Given the description of an element on the screen output the (x, y) to click on. 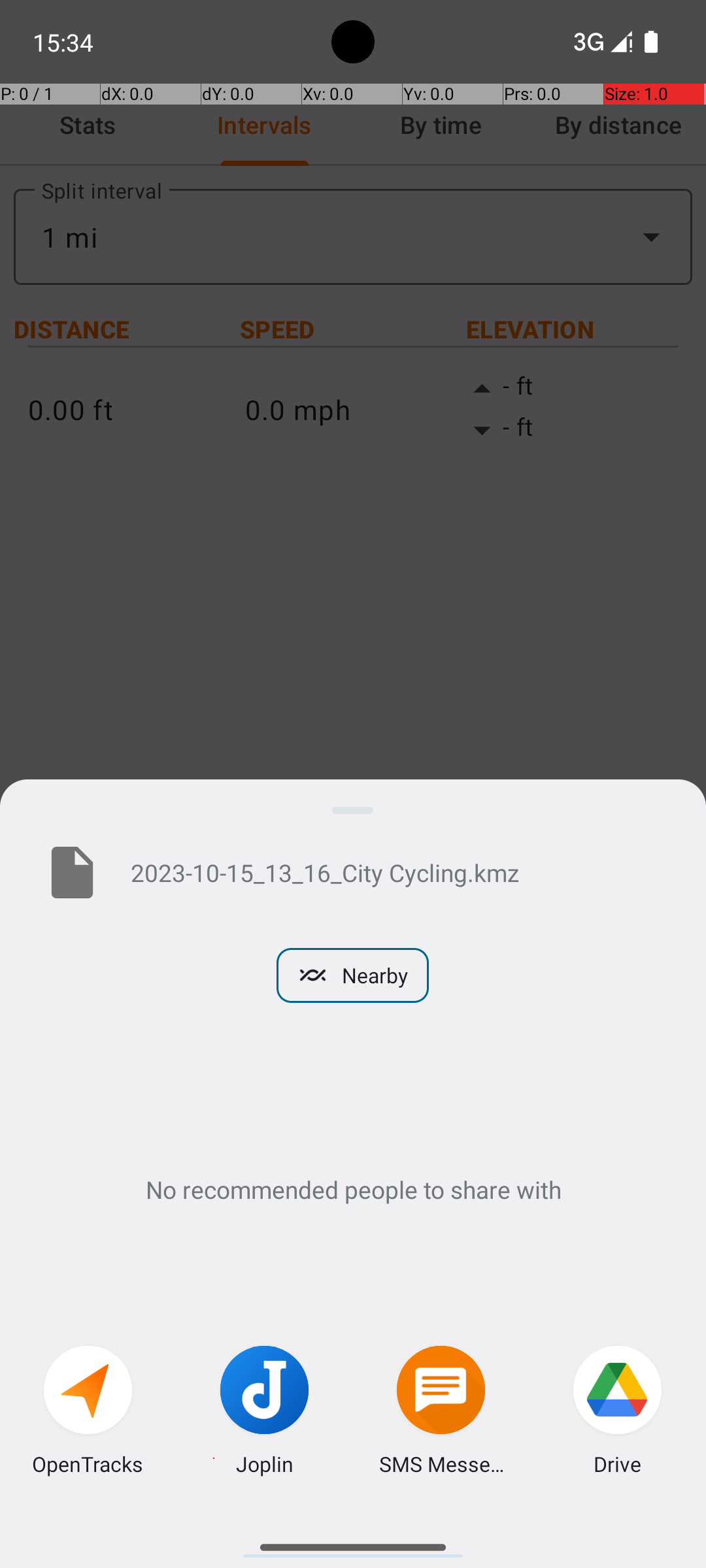
2023-10-15_13_16_City Cycling.kmz Element type: android.widget.TextView (397, 872)
